Given the description of an element on the screen output the (x, y) to click on. 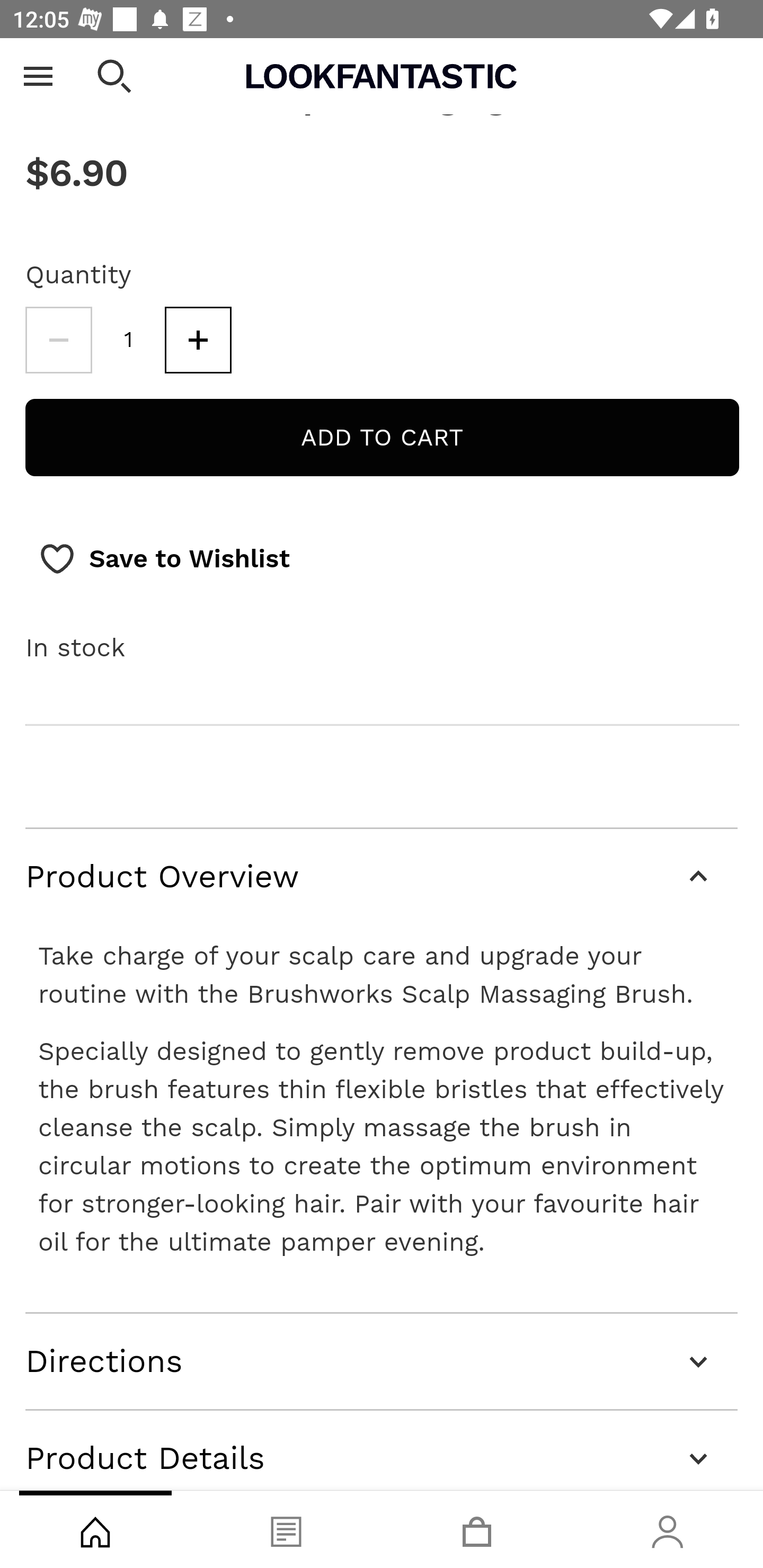
Decrease quantity (58, 340)
1, Quantity (128, 340)
Increase quantity (197, 340)
Add to cart (382, 438)
Save to Wishlist (164, 559)
Product Overview (381, 877)
Directions (381, 1361)
Product Details (381, 1450)
Shop, tab, 1 of 4 (95, 1529)
Blog, tab, 2 of 4 (285, 1529)
Basket, tab, 3 of 4 (476, 1529)
Account, tab, 4 of 4 (667, 1529)
